Given the description of an element on the screen output the (x, y) to click on. 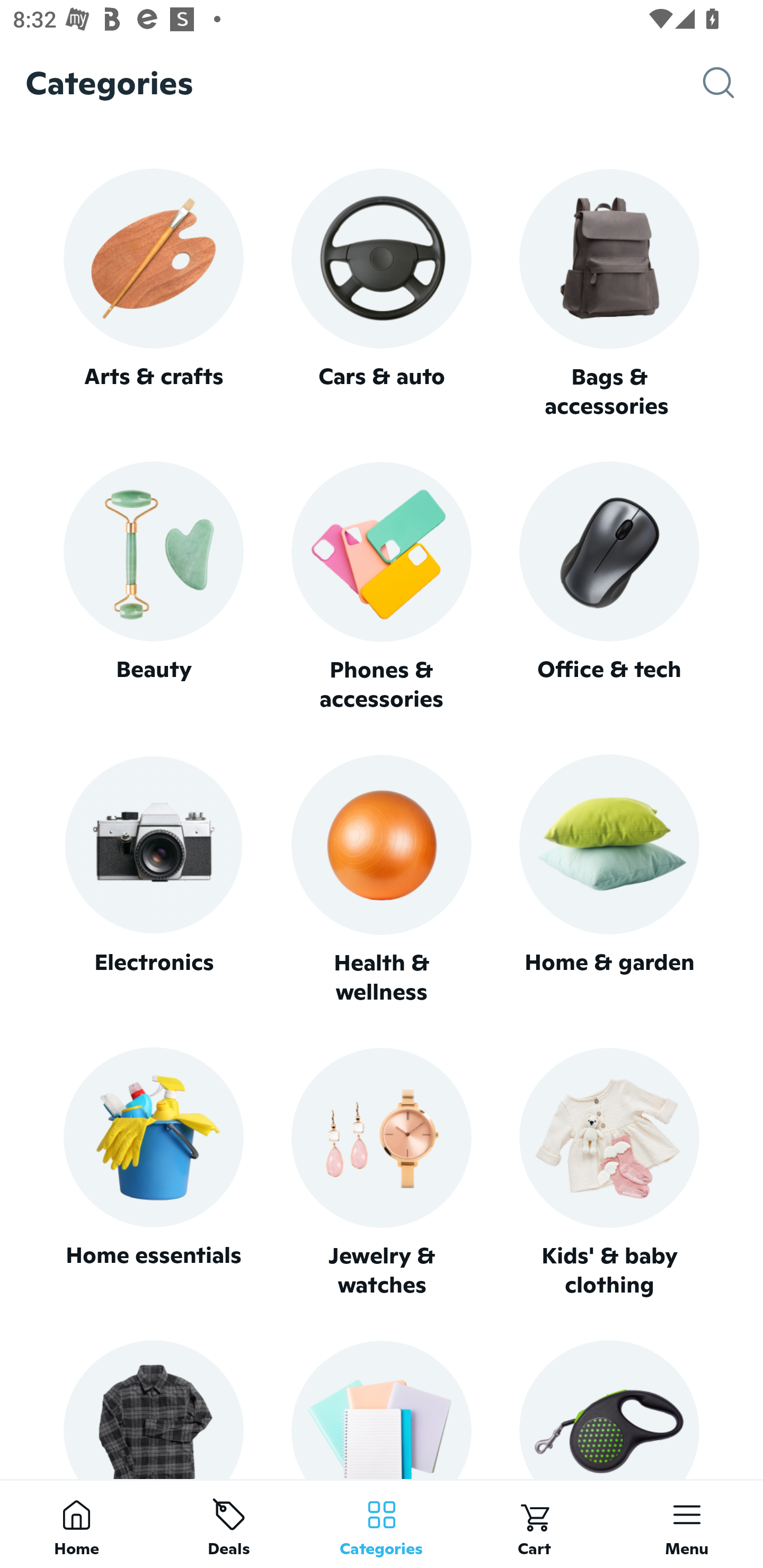
Search (732, 82)
Arts & crafts (153, 293)
Cars & auto (381, 293)
Bags & accessories  (609, 294)
Beauty (153, 586)
Office & tech (609, 586)
Phones & accessories (381, 587)
Electronics (153, 880)
Home & garden (609, 880)
Health & wellness (381, 880)
Home essentials (153, 1172)
Jewelry & watches (381, 1172)
Kids' & baby clothing (609, 1172)
Men's clothing (153, 1409)
Pet supplies (609, 1409)
Office & school supplies (381, 1409)
Home (76, 1523)
Deals (228, 1523)
Categories (381, 1523)
Cart (533, 1523)
Menu (686, 1523)
